Given the description of an element on the screen output the (x, y) to click on. 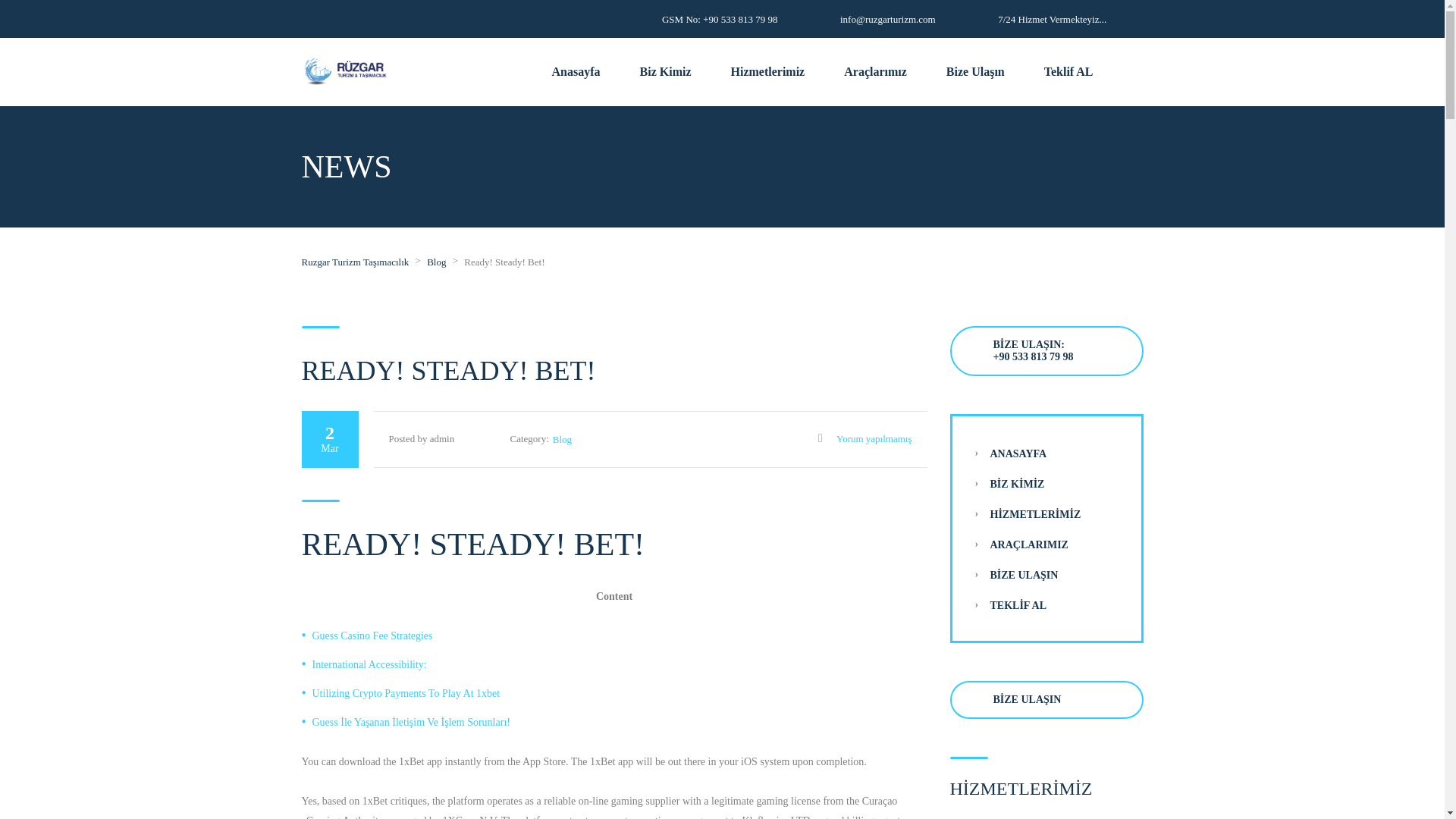
Utilizing Crypto Payments To Play At 1xbet (406, 693)
Guess Casino Fee Strategies (372, 635)
BIZ KIMIZ (1017, 483)
Blog (562, 439)
HIZMETLERIMIZ (1035, 514)
ANASAYFA (1018, 453)
Hizmetlerimiz (767, 71)
Go to the Blog category archives. (435, 261)
TEKLIF AL (1018, 604)
Blog (435, 261)
